Given the description of an element on the screen output the (x, y) to click on. 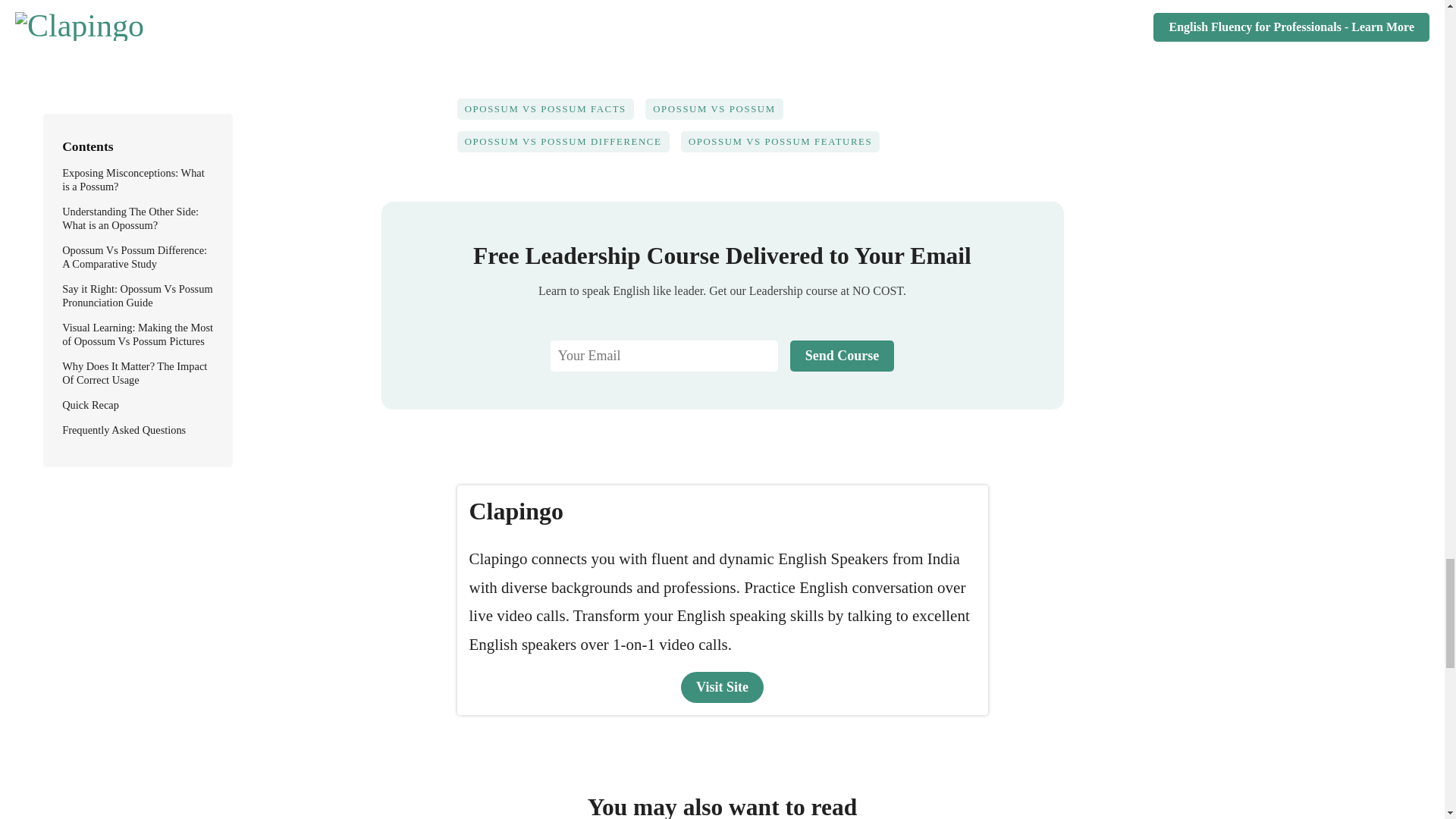
OPOSSUM VS POSSUM FEATURES (786, 147)
OPOSSUM VS POSSUM FACTS (551, 114)
OPOSSUM VS POSSUM (719, 114)
Send Course (842, 355)
OPOSSUM VS POSSUM DIFFERENCE (568, 147)
Visit Site (721, 686)
